Given the description of an element on the screen output the (x, y) to click on. 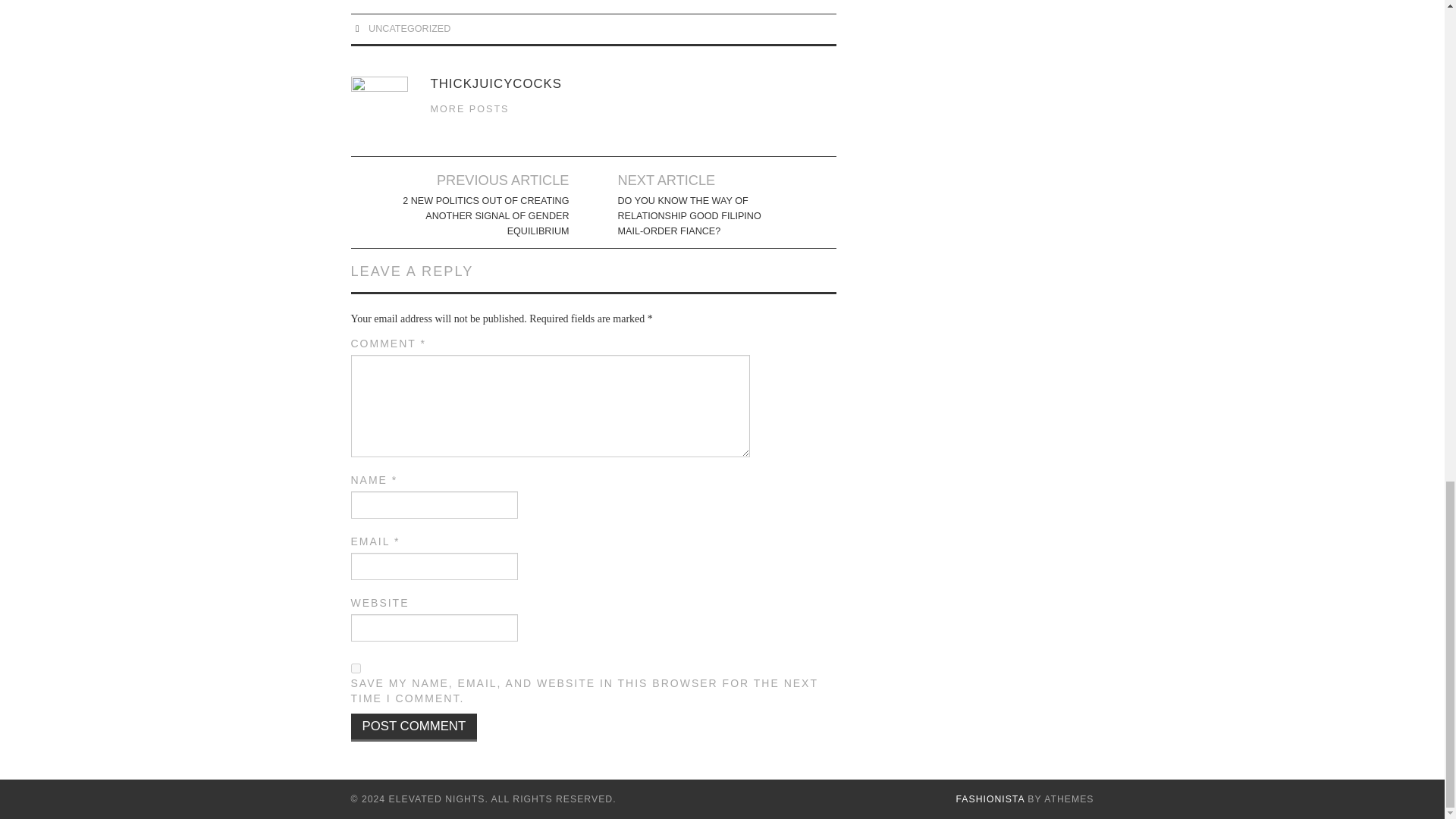
MORE POSTS (469, 109)
UNCATEGORIZED (408, 28)
Post Comment (413, 727)
Post Comment (413, 727)
yes (354, 668)
